Given the description of an element on the screen output the (x, y) to click on. 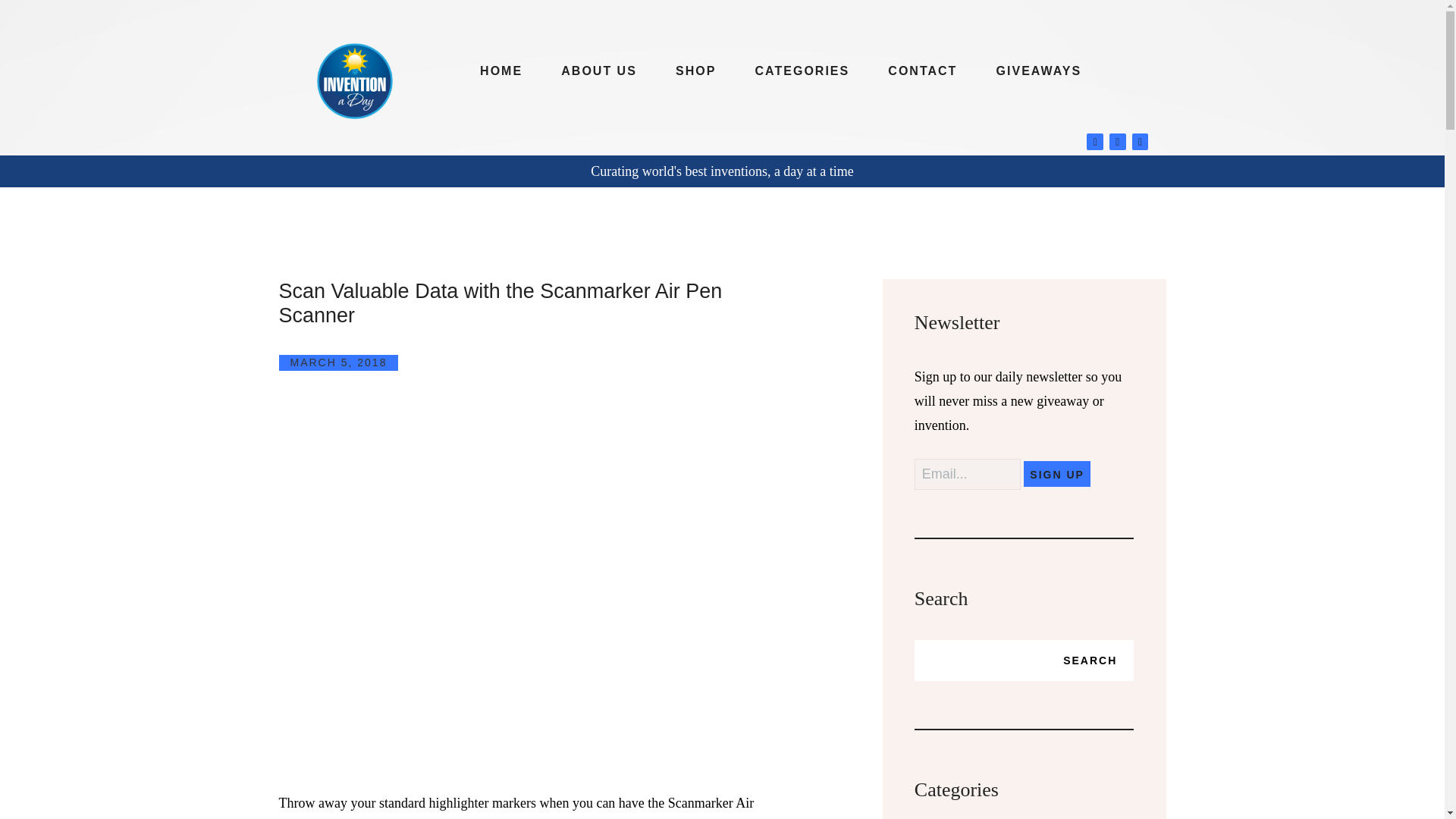
ABOUT US (598, 70)
CONTACT (922, 70)
HOME (501, 70)
Sign up (1056, 473)
Search for: (1024, 659)
CATEGORIES (802, 70)
GIVEAWAYS (1038, 70)
SHOP (695, 70)
